Given the description of an element on the screen output the (x, y) to click on. 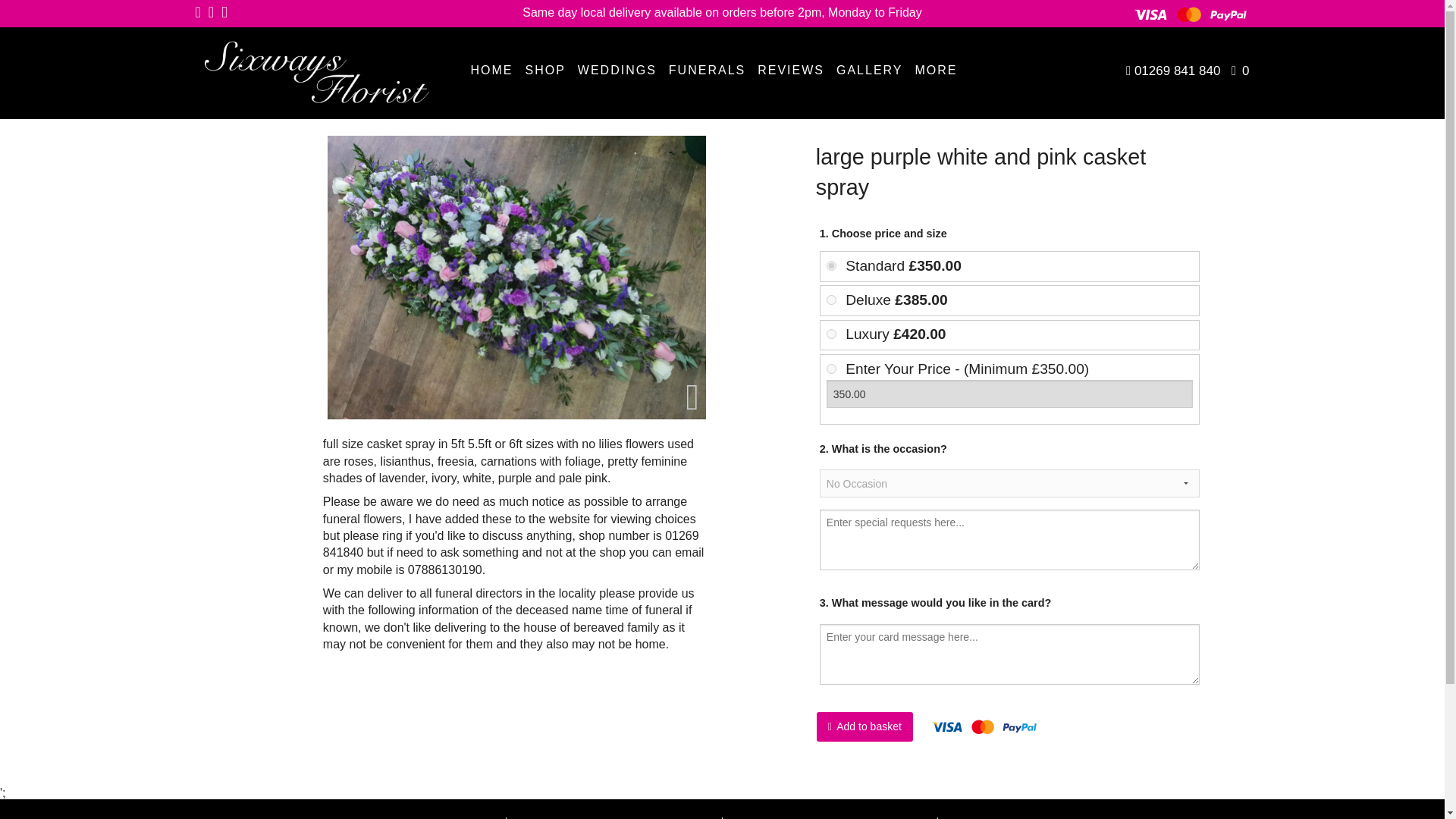
385.00 (831, 299)
350.00 (831, 266)
SHOP (544, 70)
HOME (491, 70)
350.00 (1010, 393)
420.00 (831, 334)
